Given the description of an element on the screen output the (x, y) to click on. 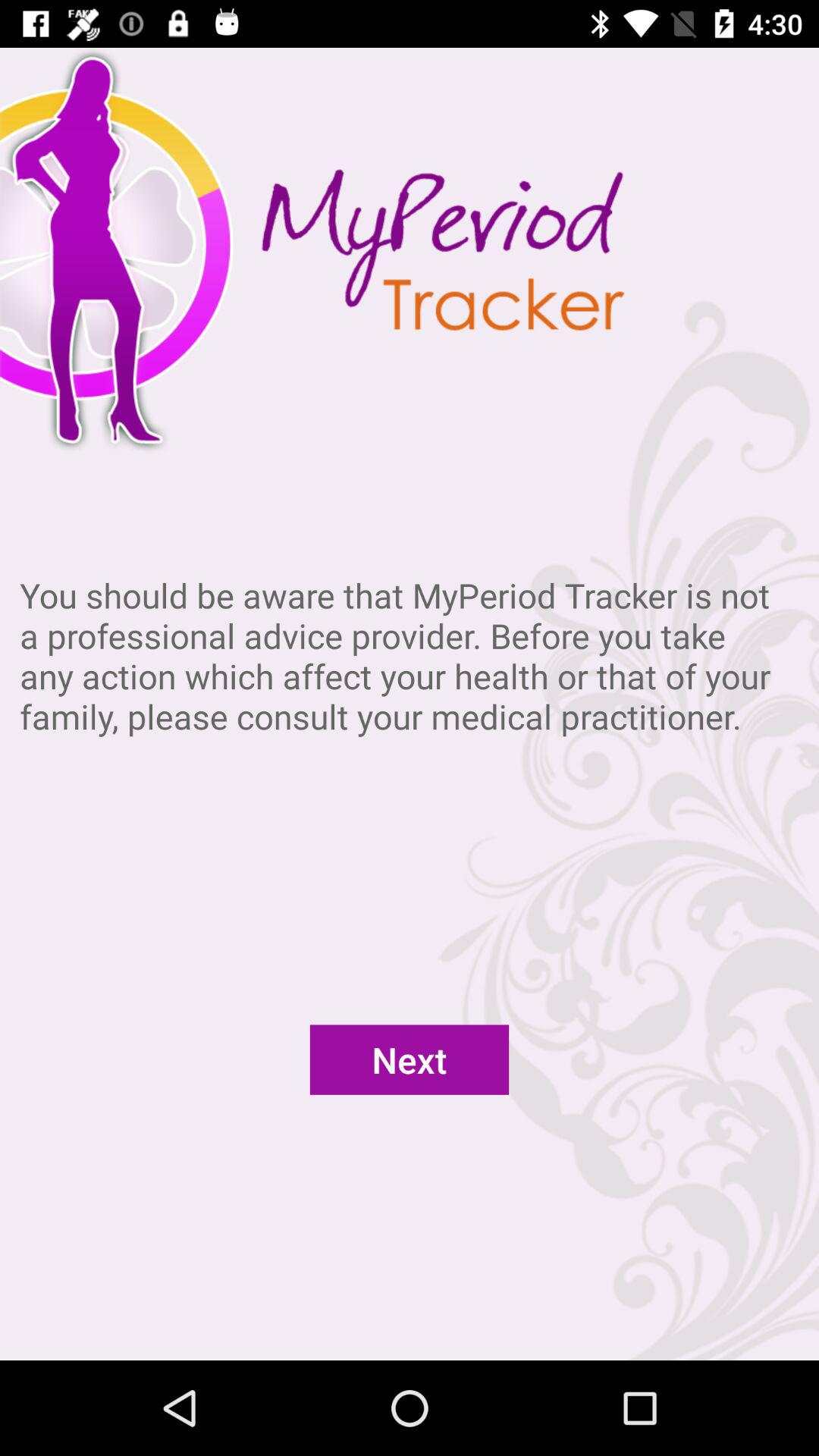
swipe until next (409, 1059)
